Given the description of an element on the screen output the (x, y) to click on. 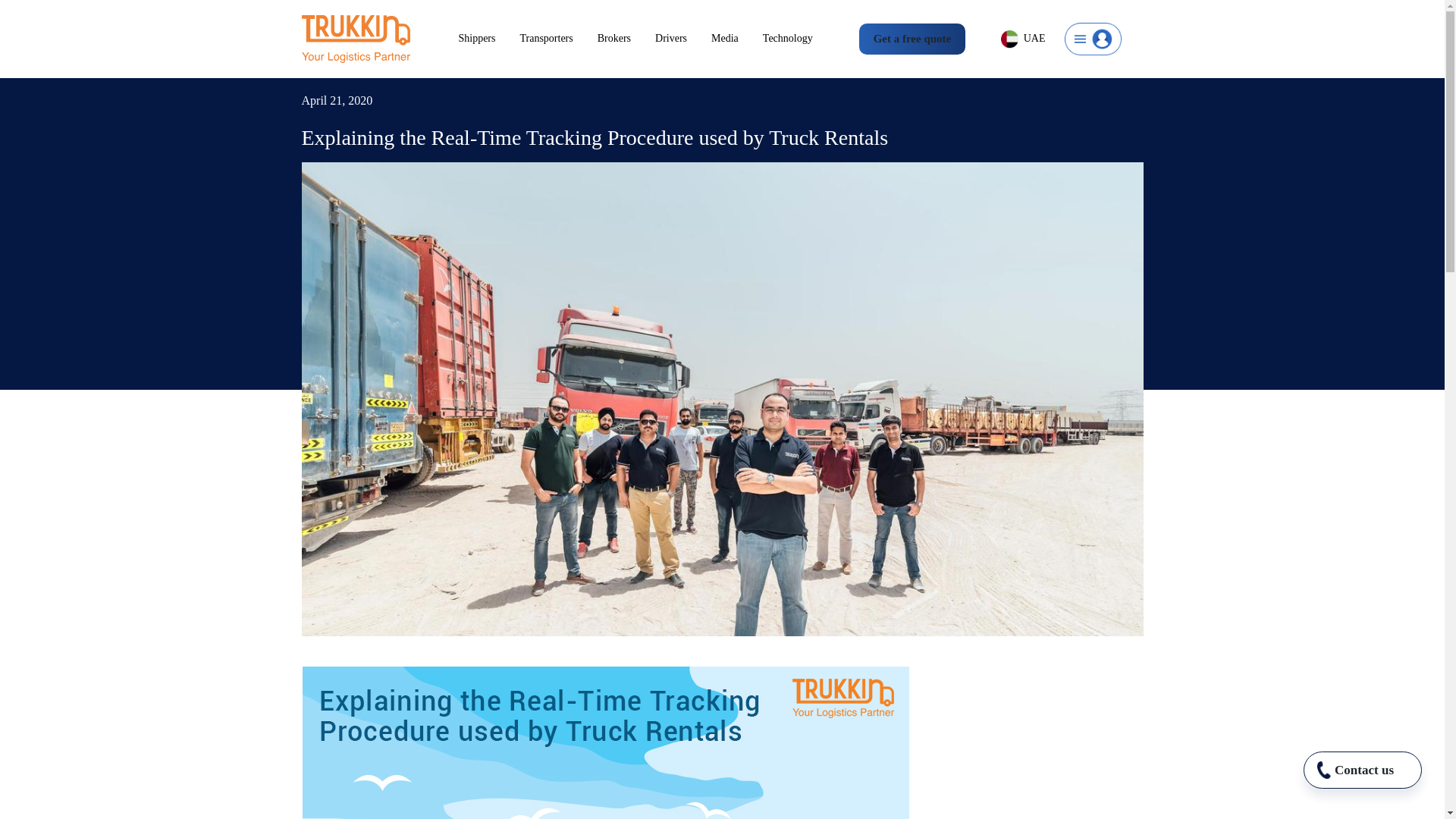
Drivers (683, 38)
Technology (799, 38)
UAE (1023, 39)
Shippers (488, 38)
Brokers (625, 38)
Get a free quote (912, 38)
Transporters (557, 38)
Media (736, 38)
